Given the description of an element on the screen output the (x, y) to click on. 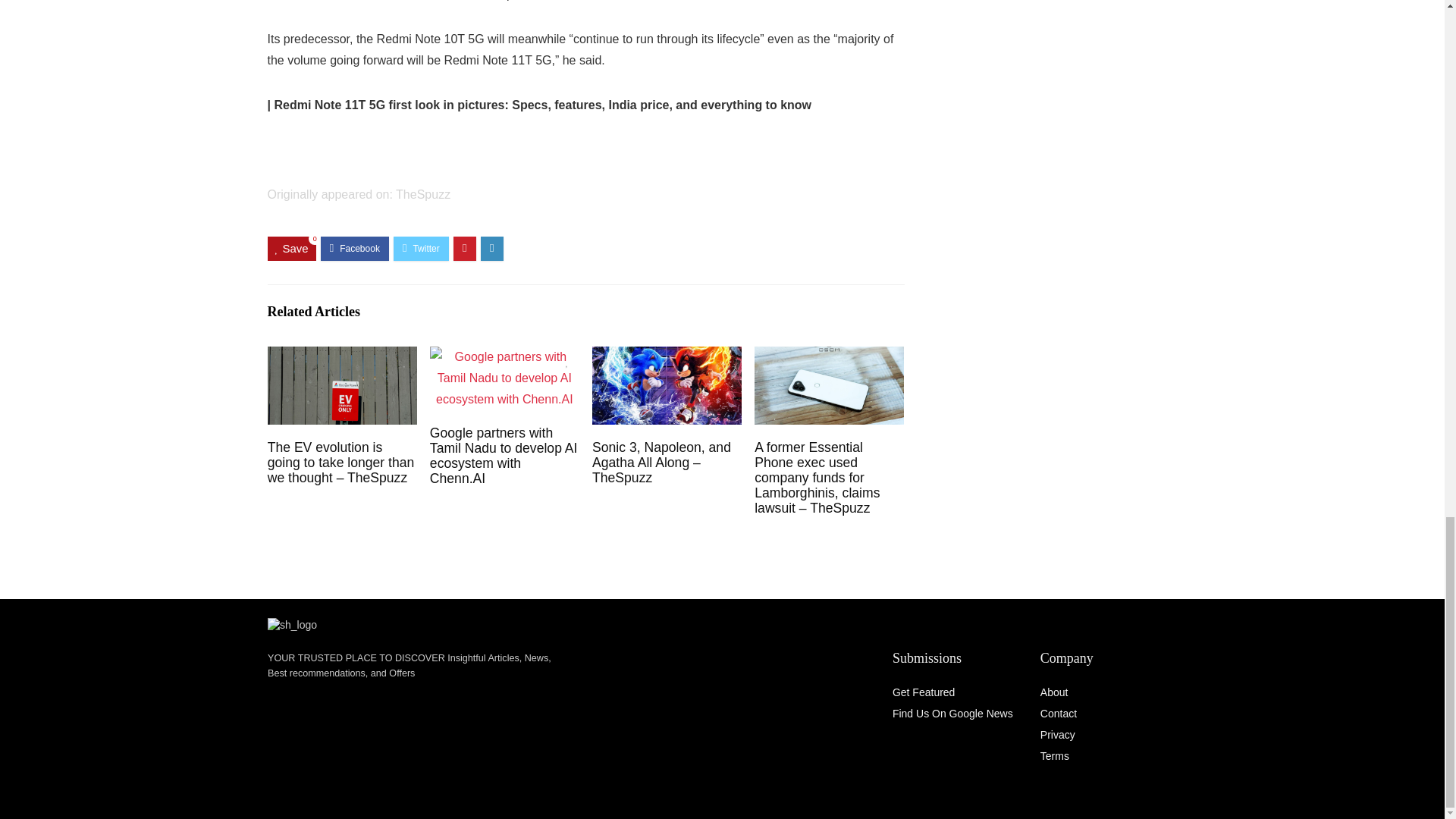
Terms (1054, 756)
TheSpuzz (422, 194)
Contact (1059, 713)
About (1054, 692)
Get Featured (923, 692)
Privacy (1058, 734)
Find Us On Google News (952, 713)
